Given the description of an element on the screen output the (x, y) to click on. 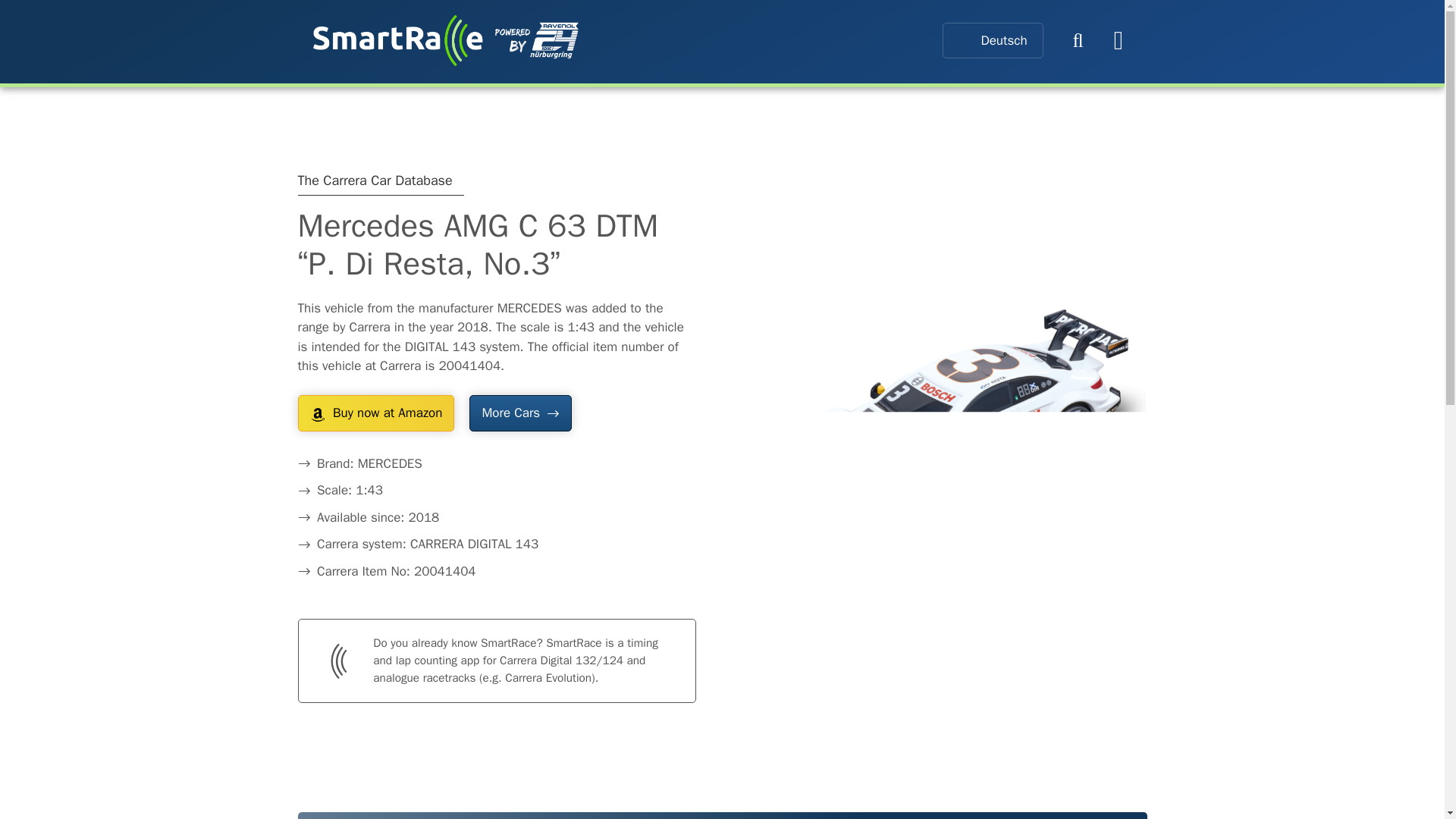
Buy now at Amazon (375, 412)
Deutsch (992, 40)
More Cars (519, 412)
SmartRace for Carrera Digital (445, 40)
